Given the description of an element on the screen output the (x, y) to click on. 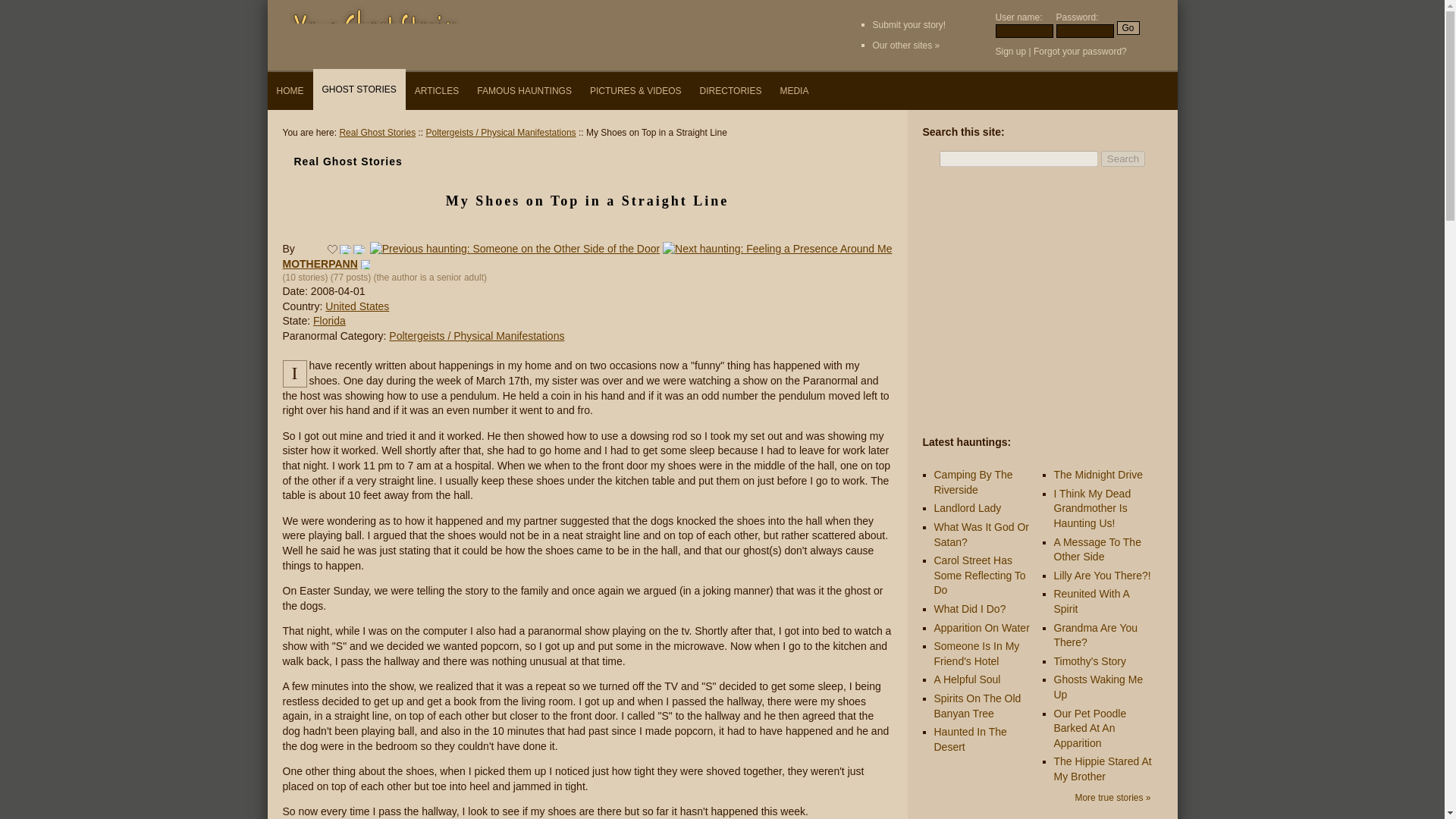
Search (1122, 158)
Send this story to a friend (344, 248)
GHOST STORIES (358, 88)
Go (1127, 28)
Print this story (359, 248)
FAMOUS HAUNTINGS (523, 90)
Submit your story! (908, 24)
ARTICLES (436, 90)
Add MOTHERPANN to your favorite people (365, 264)
Previous haunting: Someone on the Other Side of the Door (515, 248)
Send this story to a friend (344, 248)
HOME (289, 90)
United States (356, 306)
Add to your favorite stories (332, 248)
Florida (329, 320)
